Given the description of an element on the screen output the (x, y) to click on. 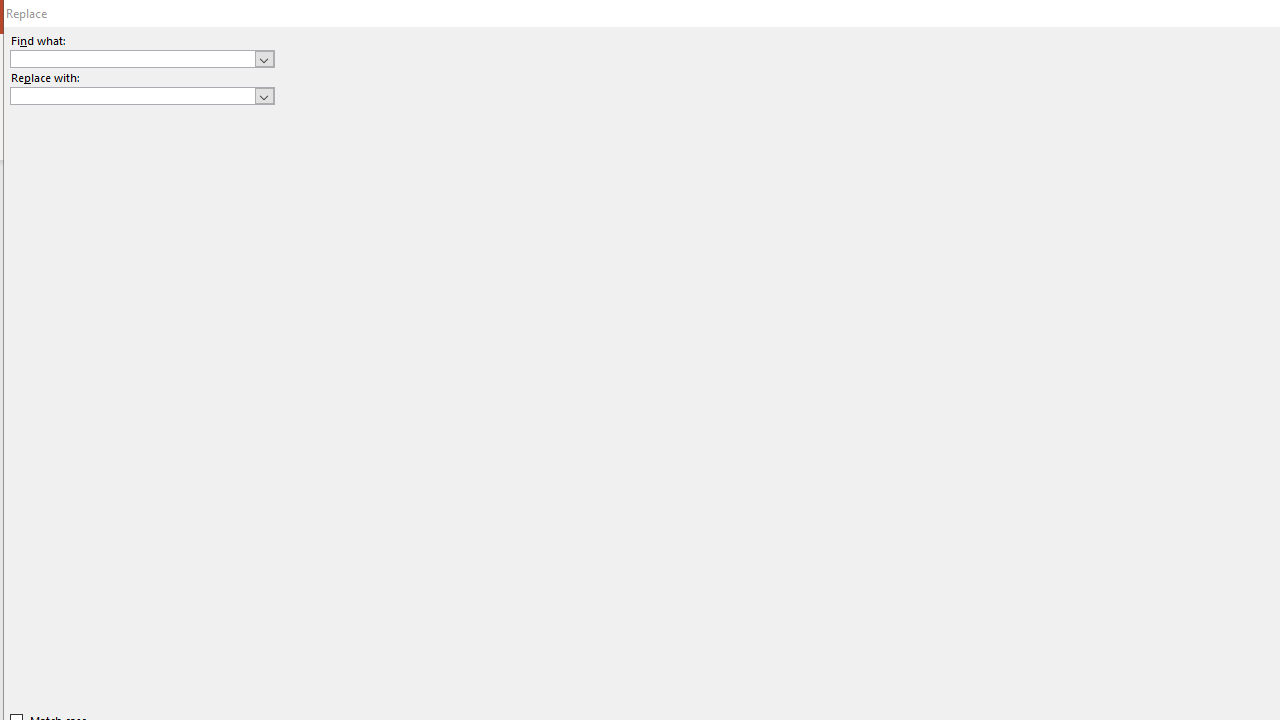
Find what (142, 58)
